Given the description of an element on the screen output the (x, y) to click on. 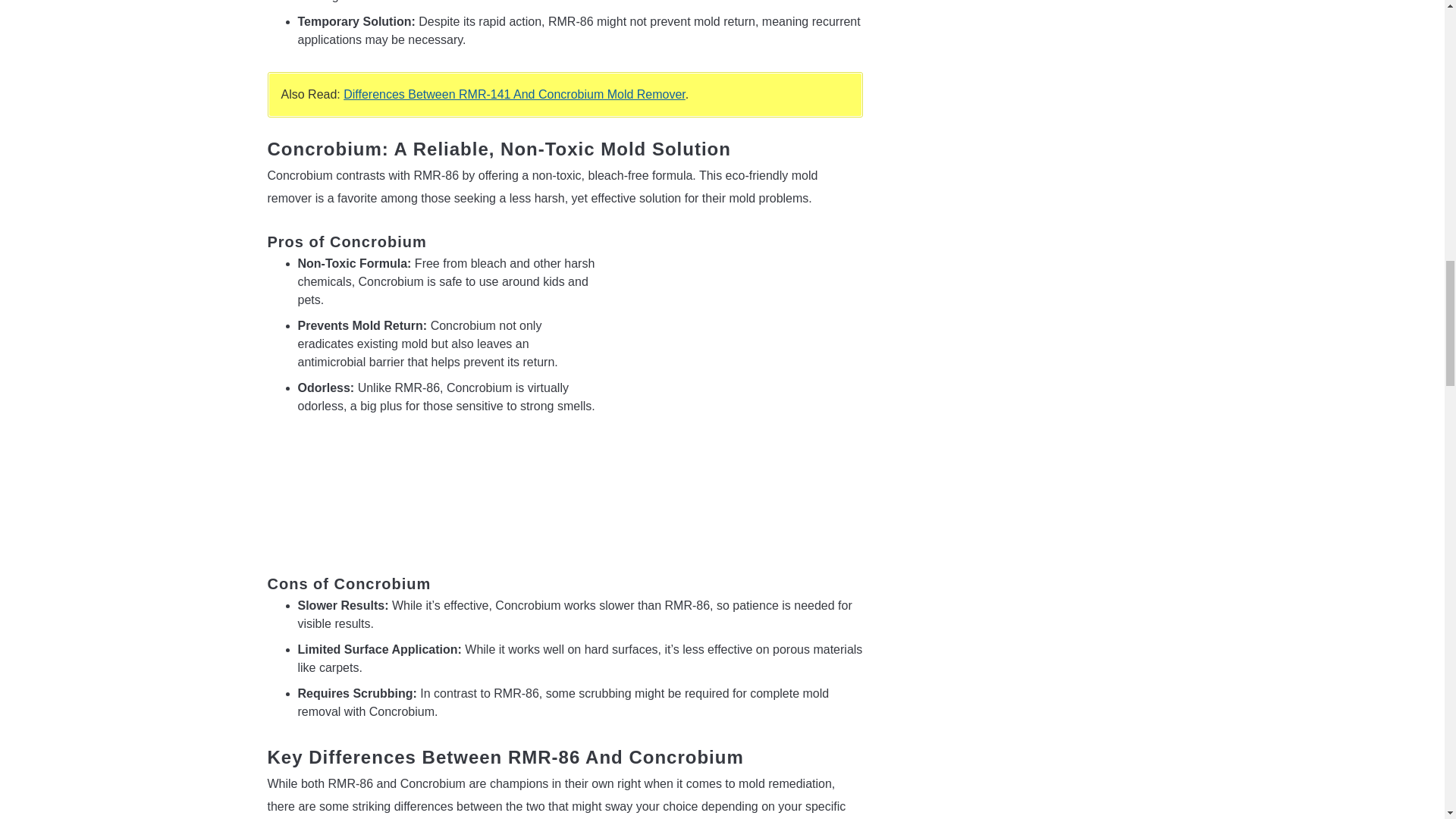
Differences Between RMR-141 And Concrobium Mold Remover (514, 93)
